Given the description of an element on the screen output the (x, y) to click on. 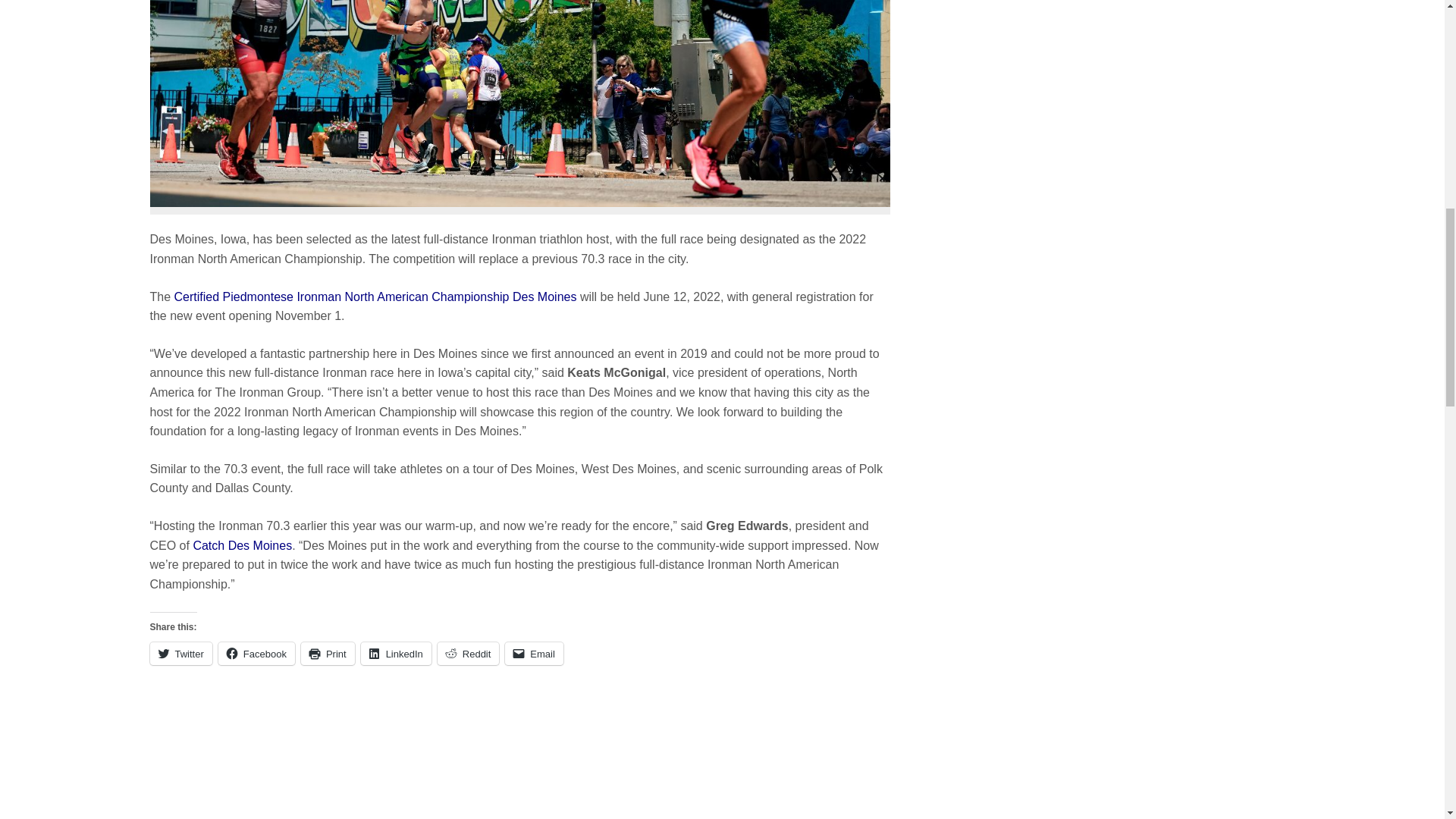
Click to share on LinkedIn (395, 653)
Click to print (328, 653)
Click to share on Twitter (180, 653)
Click to share on Facebook (256, 653)
Click to share on Reddit (468, 653)
Click to email a link to a friend (534, 653)
